Given the description of an element on the screen output the (x, y) to click on. 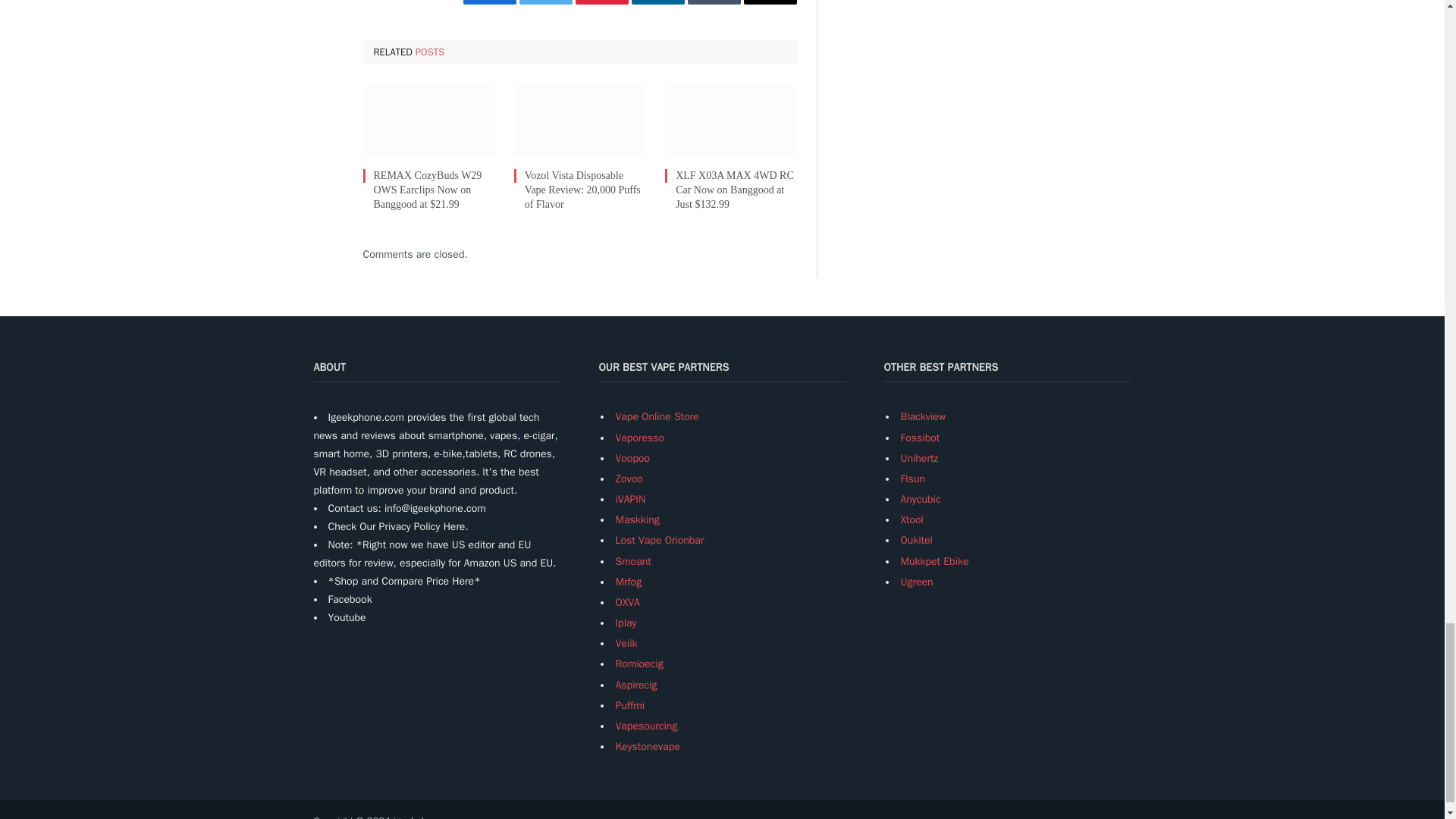
Share on Twitter (545, 2)
Share on Pinterest (601, 2)
Share on Facebook (489, 2)
